Given the description of an element on the screen output the (x, y) to click on. 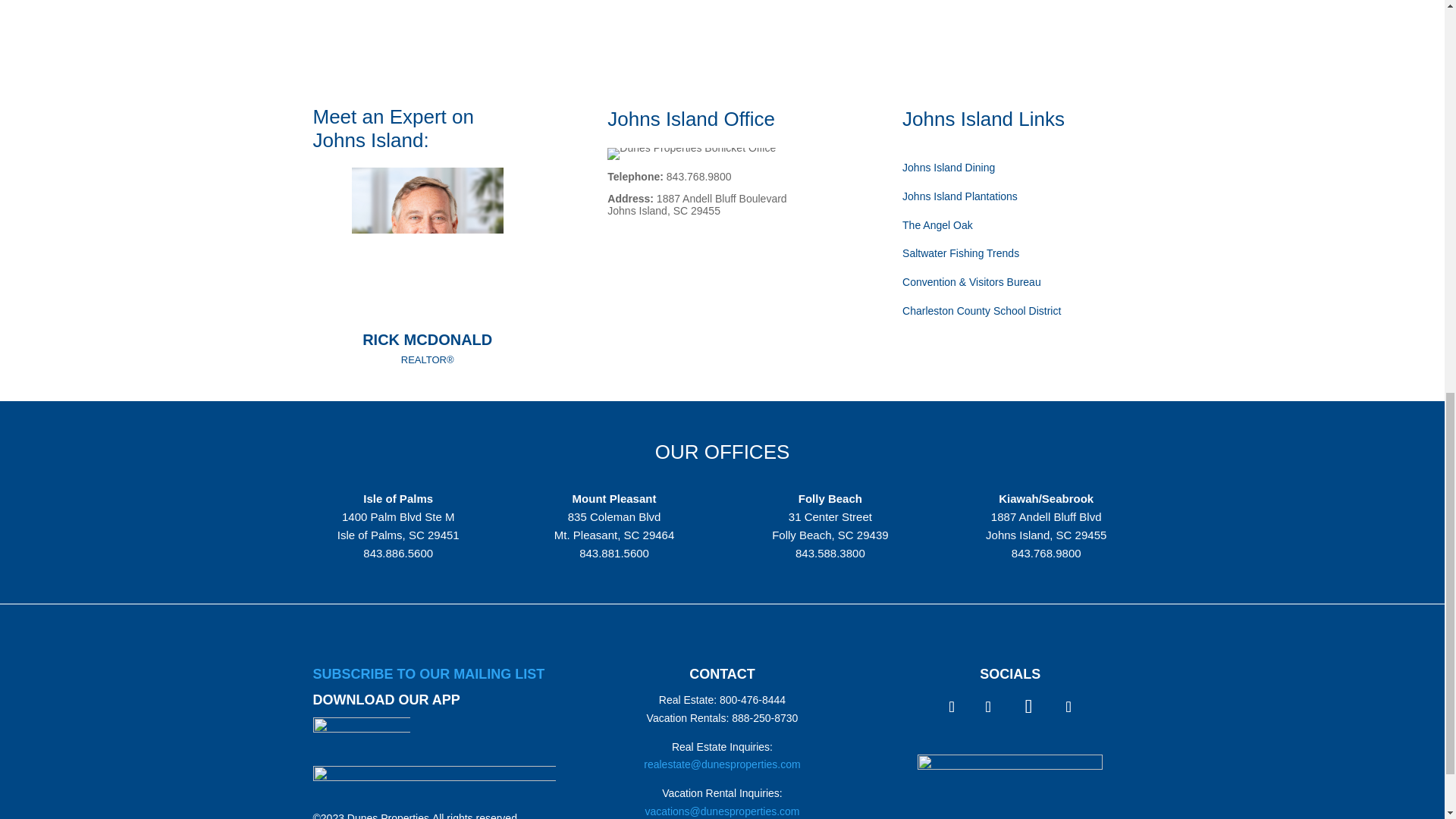
LeverageWhiteTransparent (1009, 786)
Dunes Properties Bohicket Office (691, 153)
DunesPropLogo-White (433, 783)
QR code :App Store Image (361, 736)
Follow on Youtube (1027, 706)
Follow on LinkedIn (1067, 706)
Follow on Facebook (951, 706)
Follow on Instagram (987, 706)
